Given the description of an element on the screen output the (x, y) to click on. 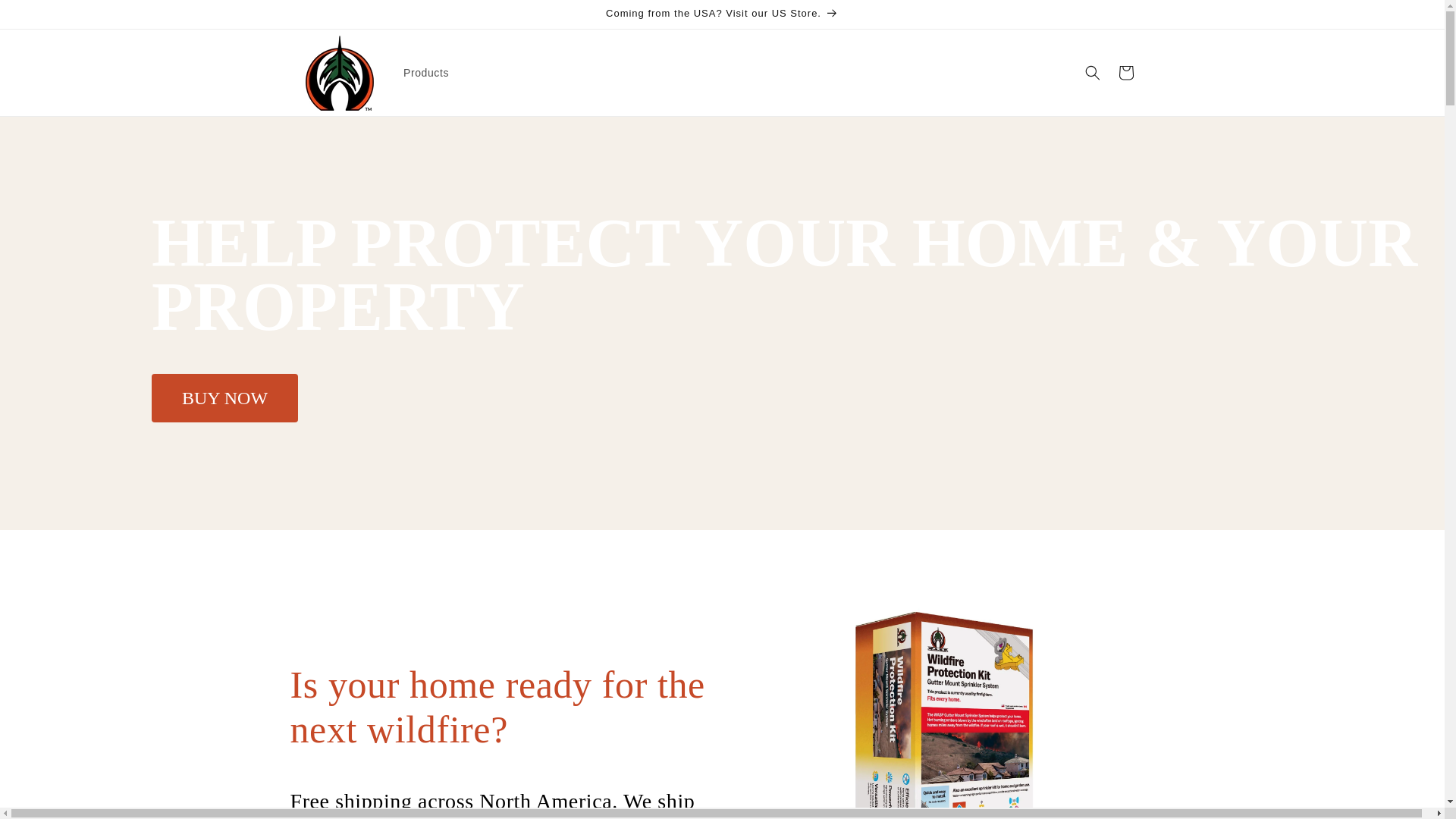
Cart (1124, 72)
Coming from the USA? Visit our US Store. (721, 14)
Products (426, 72)
Skip to content (45, 17)
BUY NOW (224, 397)
